Given the description of an element on the screen output the (x, y) to click on. 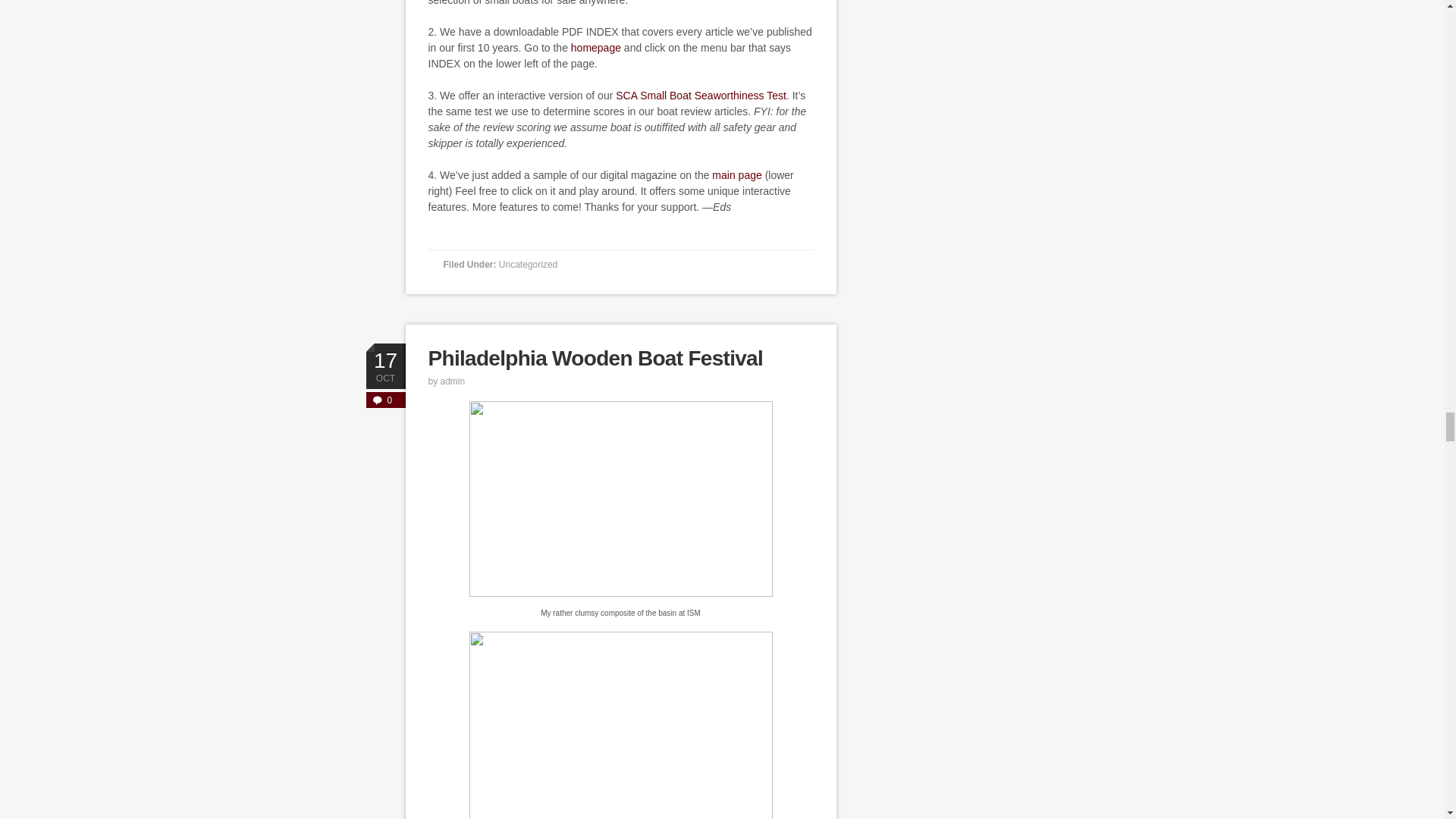
Philadelphia Wooden Boat Festival (595, 358)
Posts by admin (453, 380)
